Given the description of an element on the screen output the (x, y) to click on. 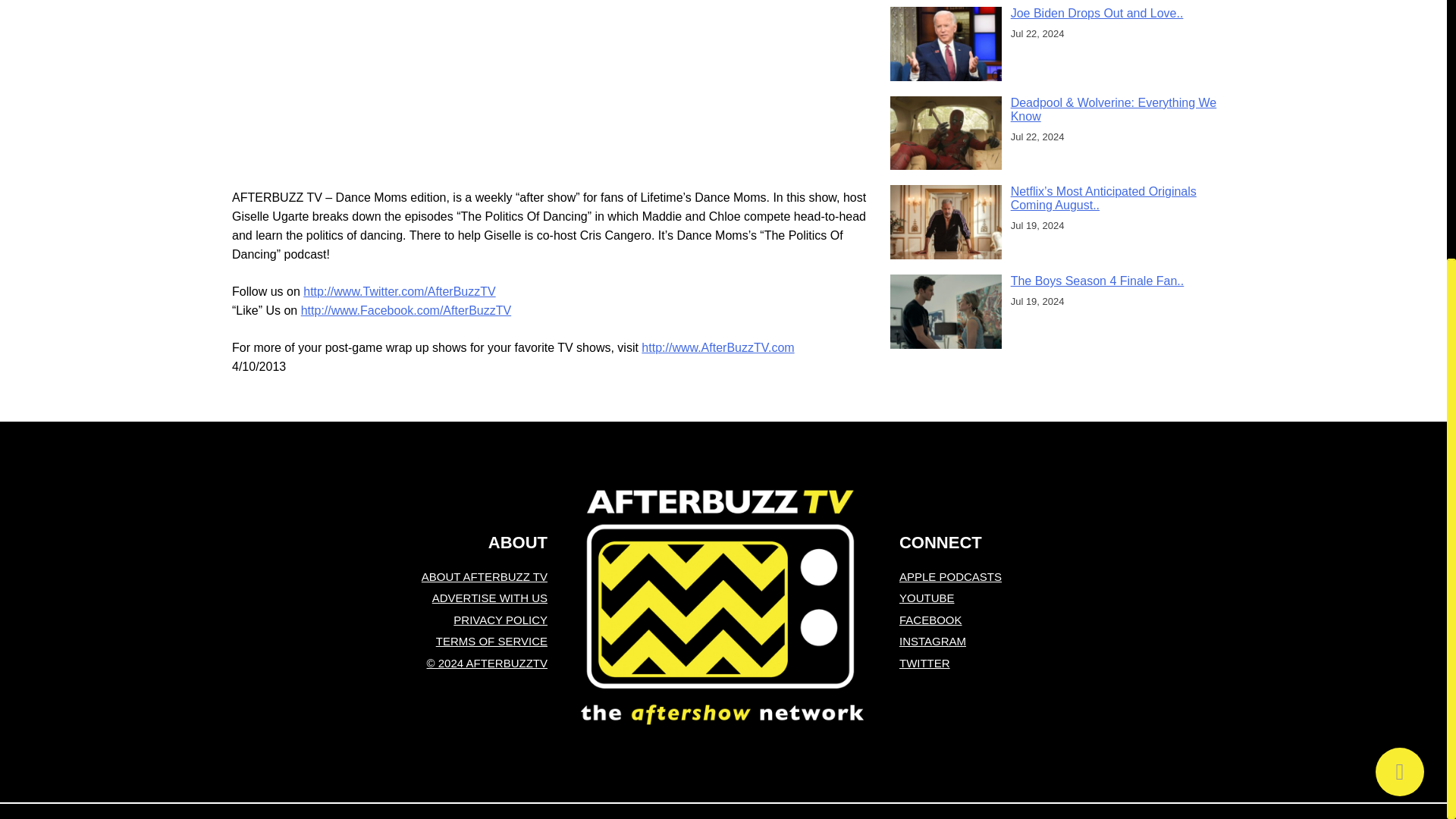
ABOUT AFTERBUZZ TV (389, 577)
PRIVACY POLICY (389, 620)
TERMS OF SERVICE (389, 641)
ADVERTISE WITH US (389, 598)
The Boys Season 4 Finale Fan.. (1097, 280)
Joe Biden Drops Out and Love.. (1096, 12)
